Given the description of an element on the screen output the (x, y) to click on. 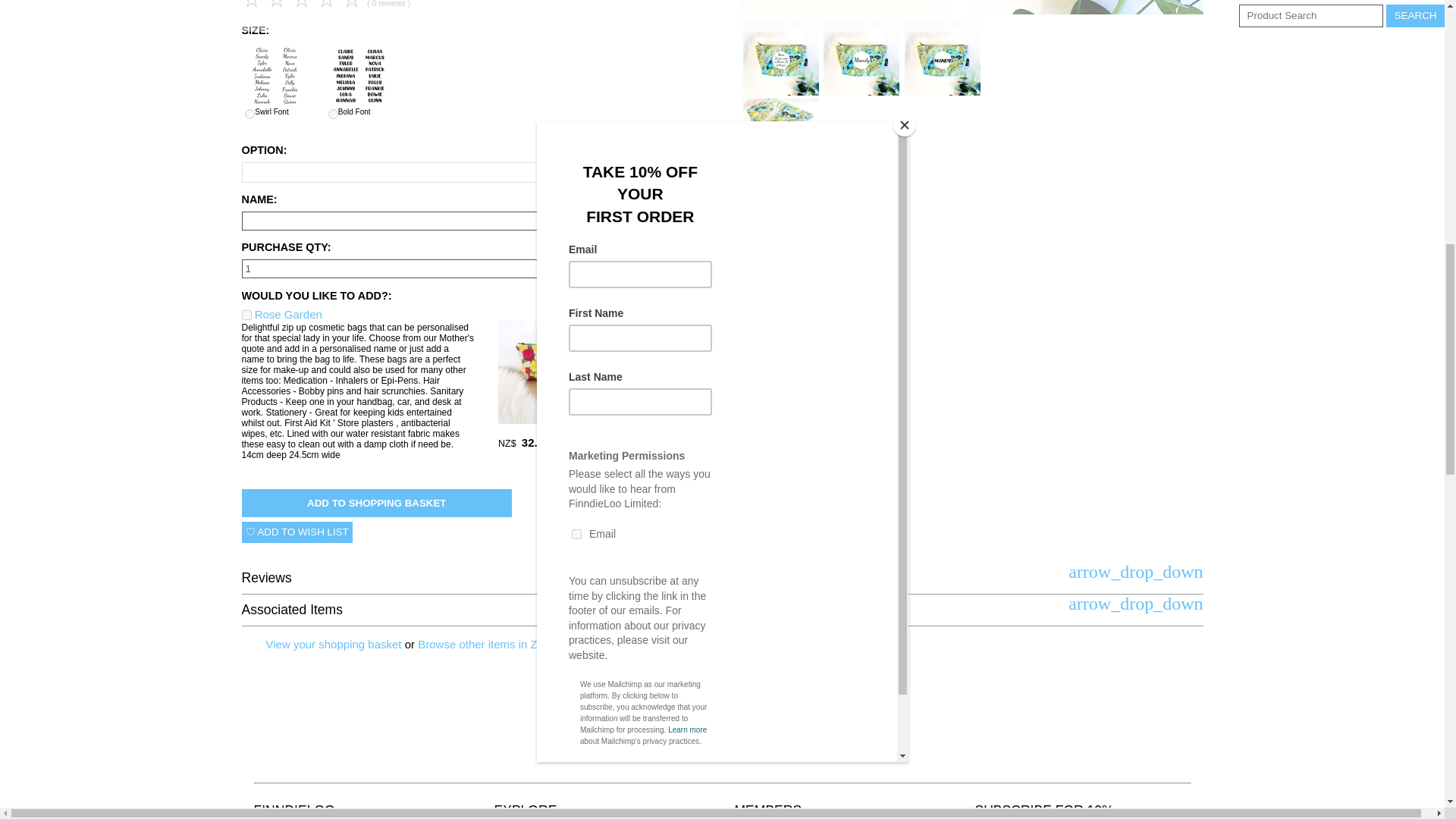
Add to Shopping Basket (376, 502)
click to reveal section (1135, 603)
Raccoon Blues (972, 10)
Bold Font (358, 75)
click to reveal section (1135, 571)
Swirl Font (249, 113)
1 (421, 268)
click to reveal section (721, 609)
click to reveal section (721, 577)
Swirl Font (274, 75)
Submit Product Review (303, 4)
Bold Font (333, 113)
2497797 (245, 315)
